Given the description of an element on the screen output the (x, y) to click on. 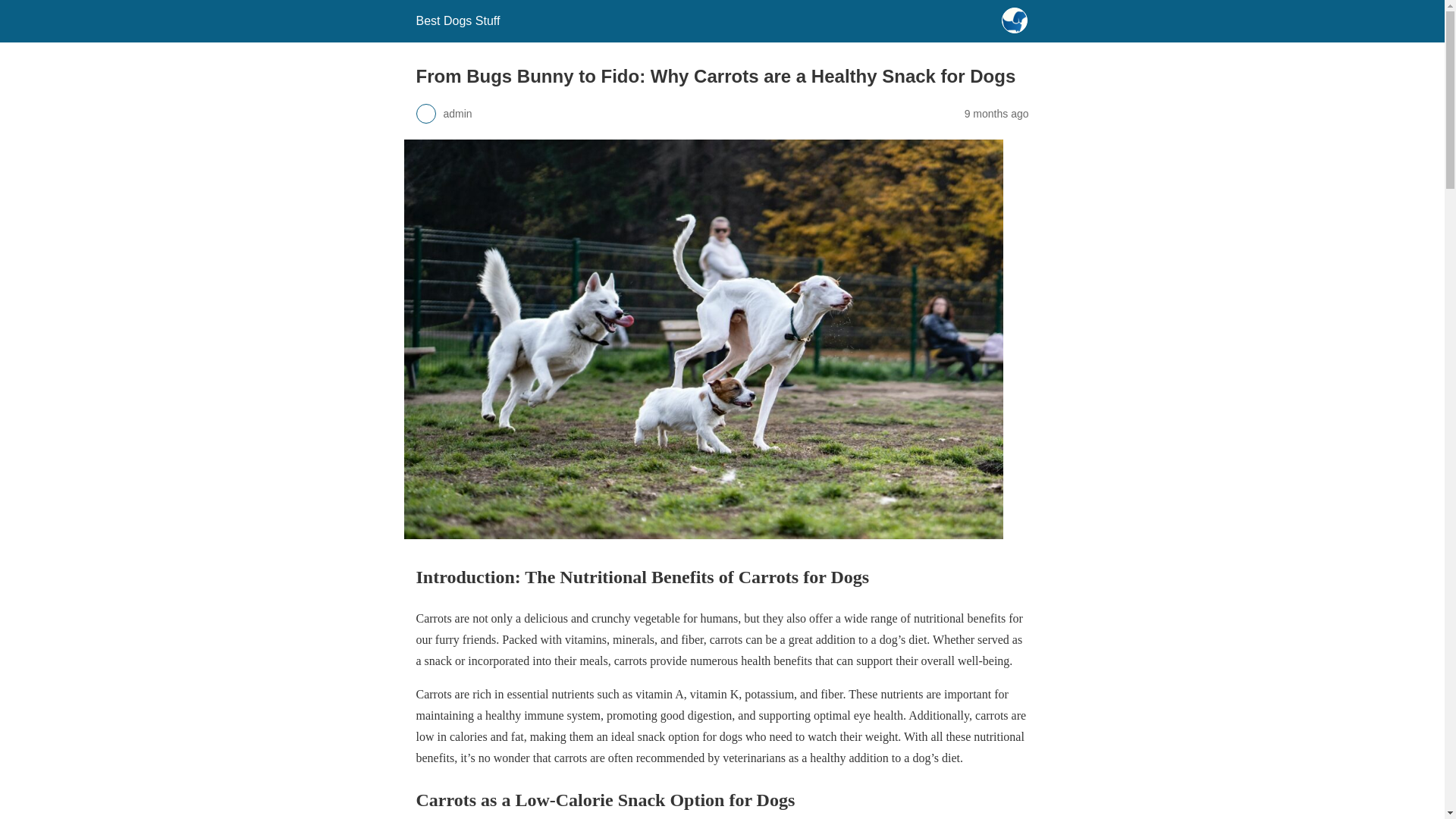
Best Dogs Stuff (456, 20)
